Given the description of an element on the screen output the (x, y) to click on. 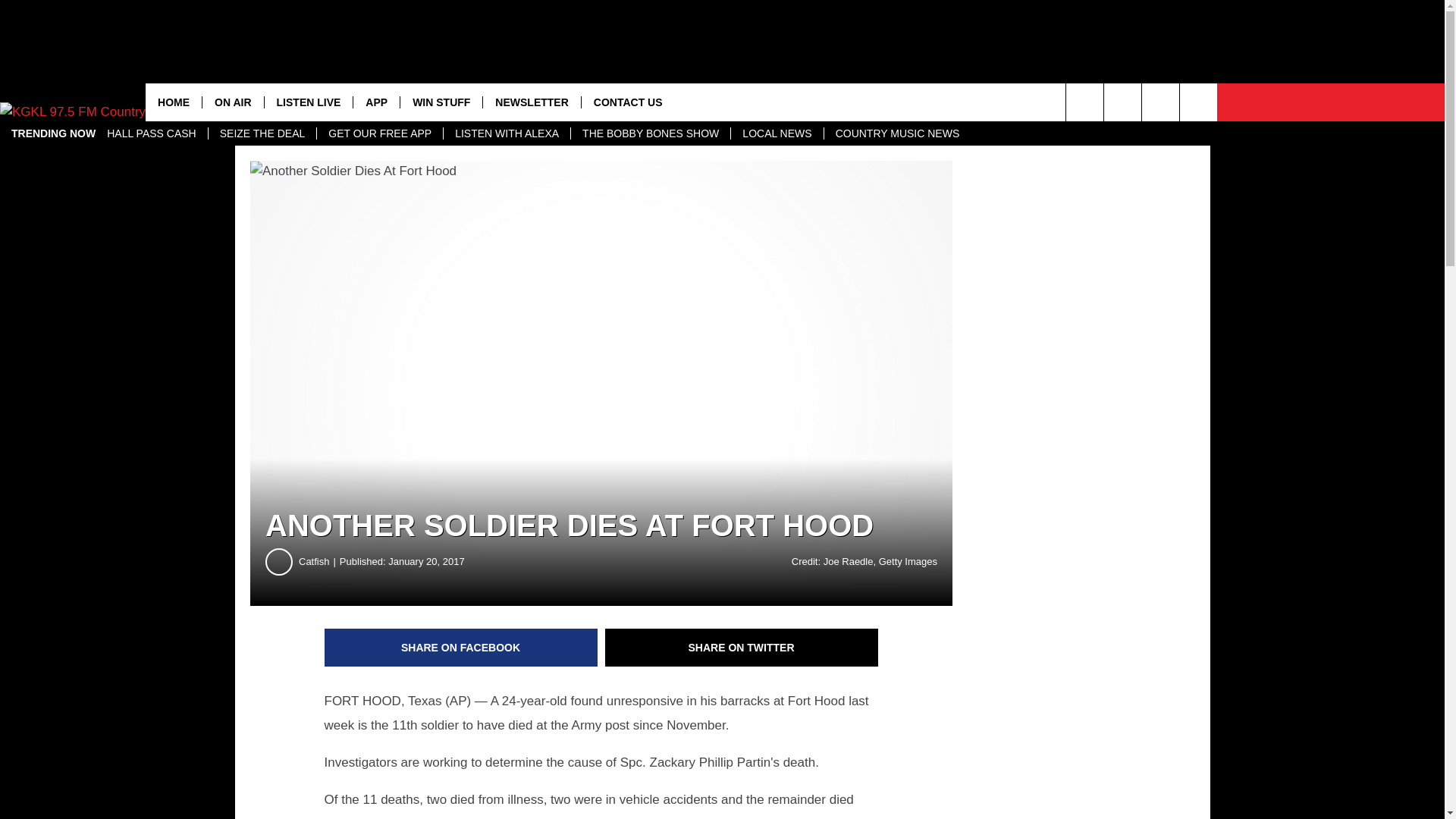
LOCAL NEWS (776, 133)
Share on Twitter (741, 647)
WIN STUFF (439, 102)
HOME (173, 102)
CONTACT US (627, 102)
Share on Facebook (460, 647)
SEIZE THE DEAL (262, 133)
LISTEN WITH ALEXA (506, 133)
COUNTRY MUSIC NEWS (897, 133)
GET OUR FREE APP (378, 133)
LISTEN LIVE (308, 102)
APP (375, 102)
HALL PASS CASH (152, 133)
ON AIR (232, 102)
THE BOBBY BONES SHOW (650, 133)
